Given the description of an element on the screen output the (x, y) to click on. 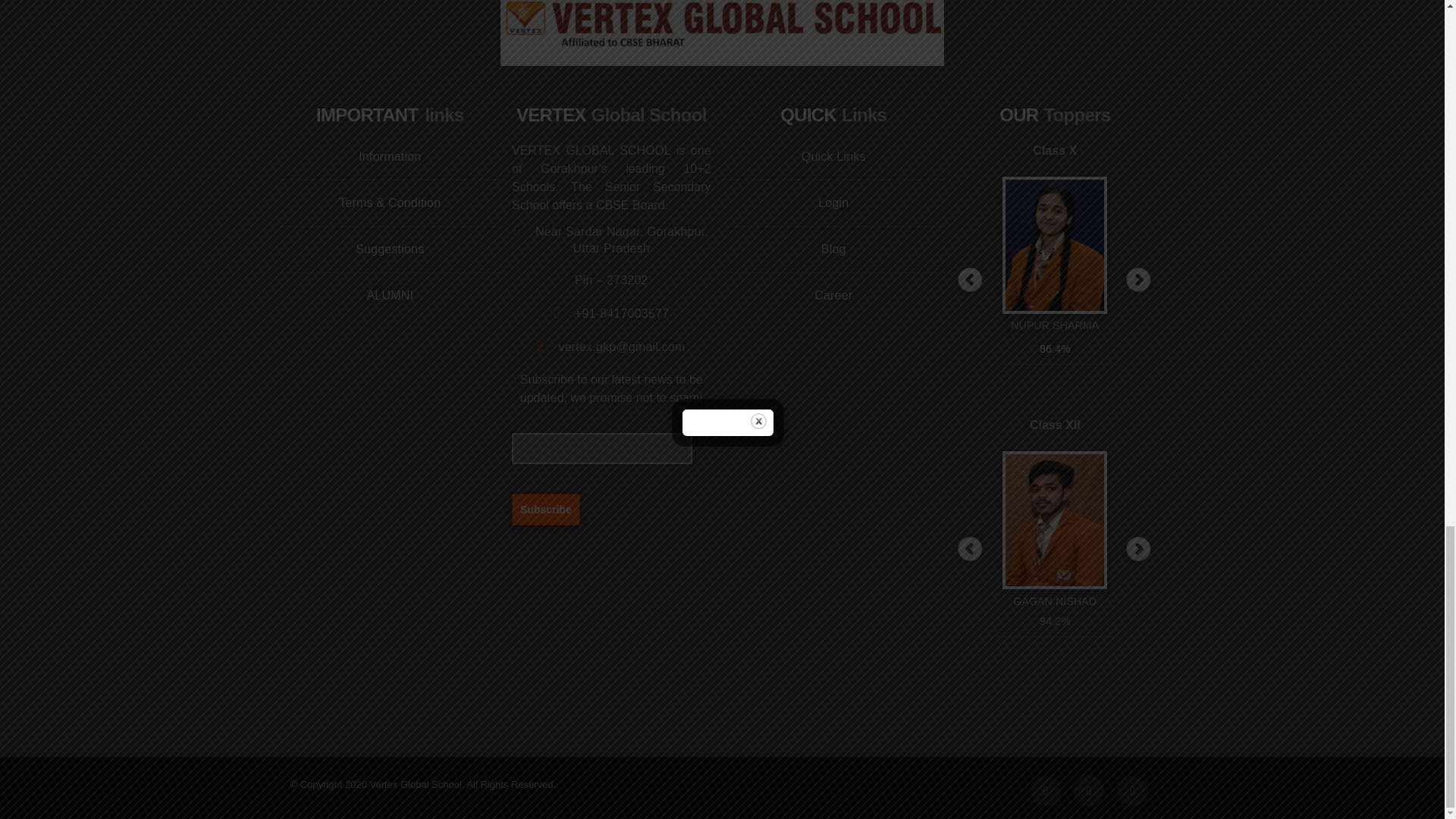
Subscribe (545, 508)
